Given the description of an element on the screen output the (x, y) to click on. 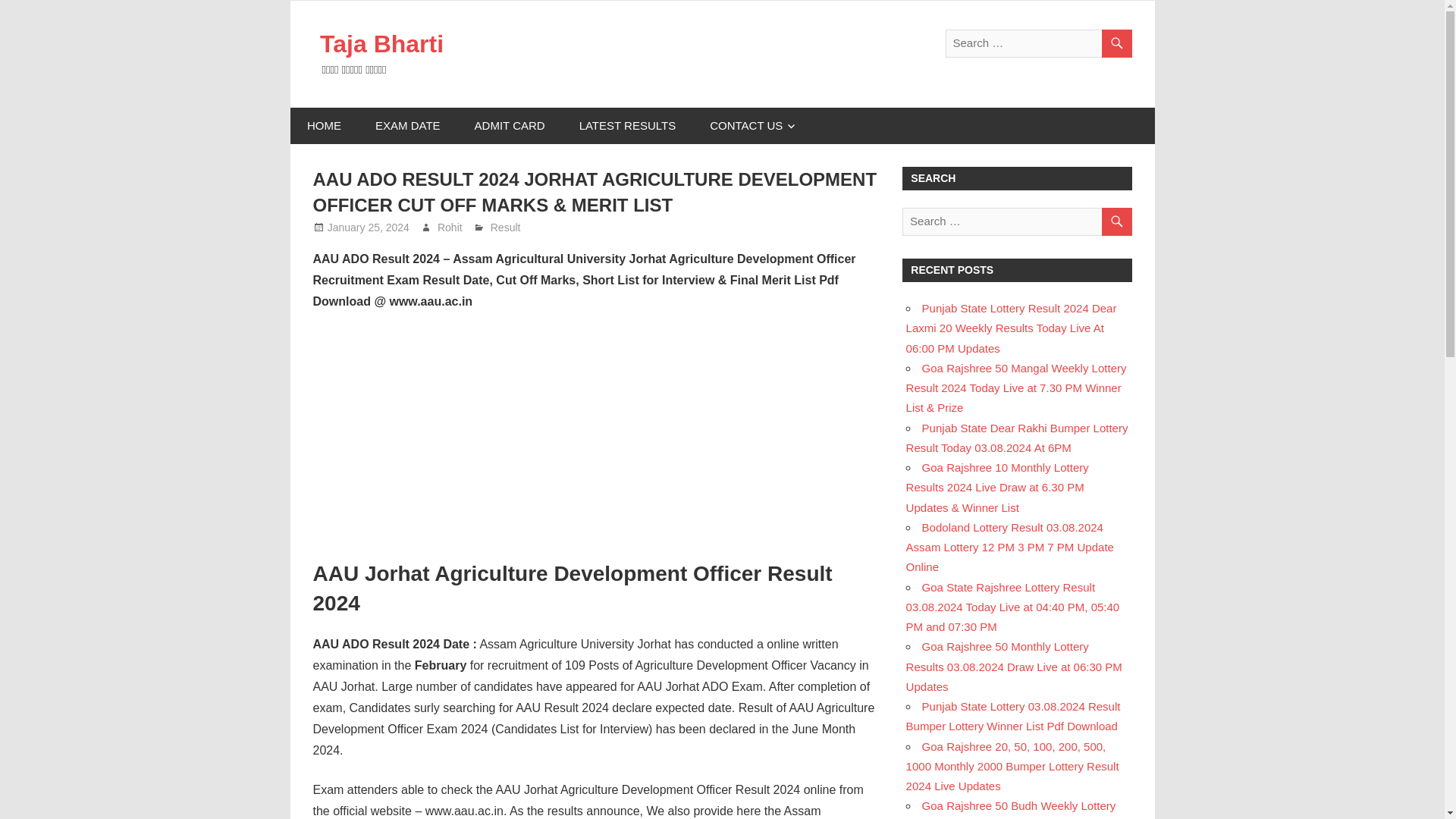
Search for: (1016, 221)
Taja Bharti (382, 43)
CONTACT US (753, 125)
View all posts by Rohit (450, 227)
Search for: (1037, 42)
11:48 am (368, 227)
HOME (323, 125)
Advertisement (596, 436)
EXAM DATE (407, 125)
ADMIT CARD (509, 125)
